Given the description of an element on the screen output the (x, y) to click on. 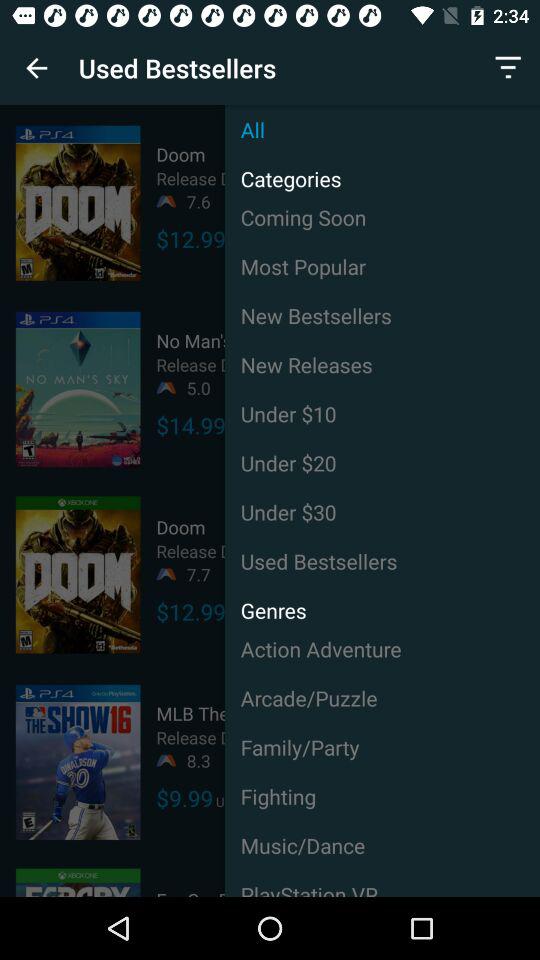
launch the item to the right of $14.99 (382, 462)
